Given the description of an element on the screen output the (x, y) to click on. 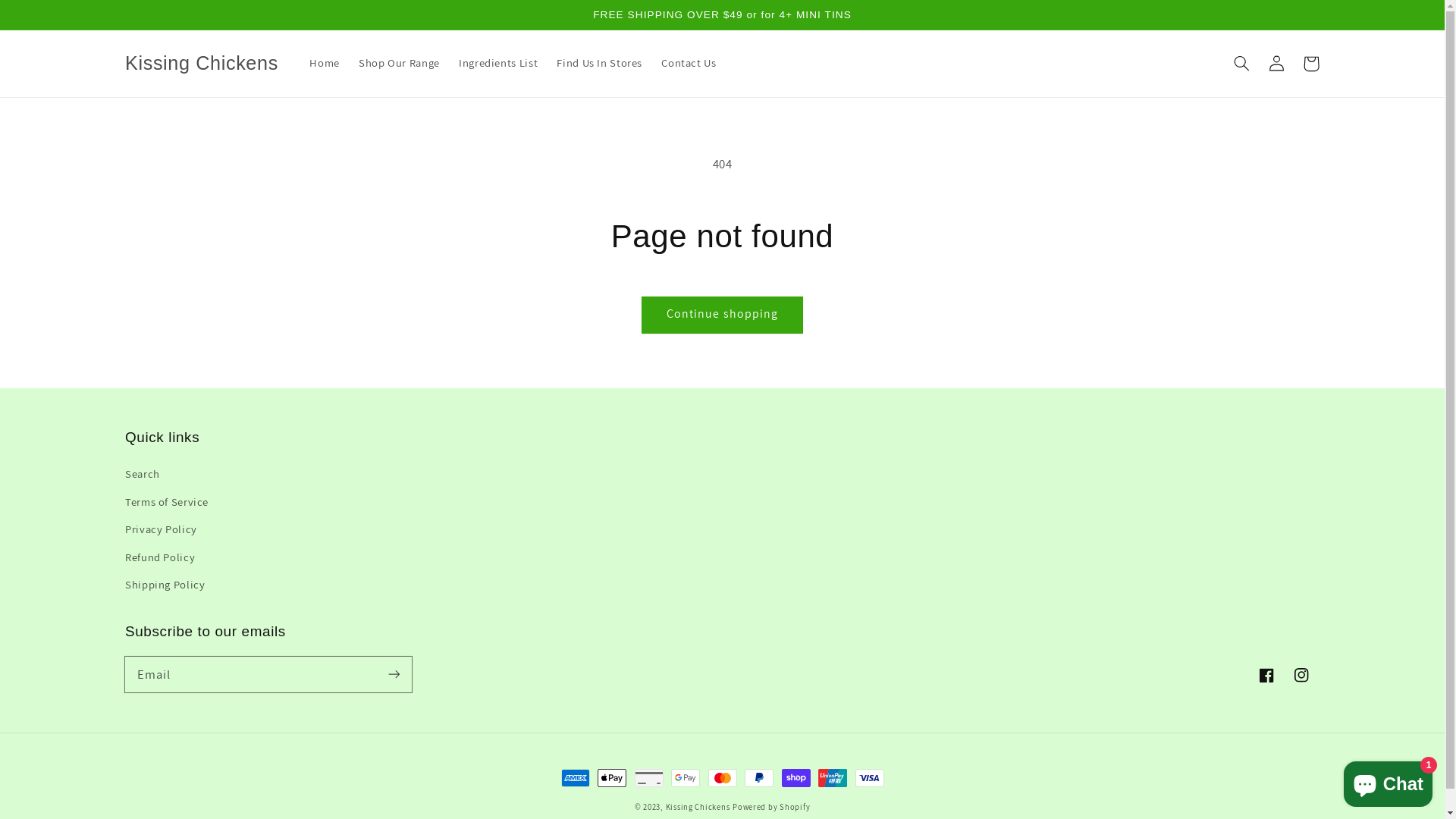
Refund Policy Element type: text (159, 556)
Find Us In Stores Element type: text (599, 63)
Kissing Chickens Element type: text (697, 806)
Log in Element type: text (1275, 63)
Shopify online store chat Element type: hover (1388, 780)
Search Element type: text (142, 475)
Facebook Element type: text (1266, 674)
Powered by Shopify Element type: text (770, 806)
Shop Our Range Element type: text (398, 63)
Instagram Element type: text (1301, 674)
Contact Us Element type: text (689, 63)
Ingredients List Element type: text (497, 63)
Terms of Service Element type: text (166, 501)
Shipping Policy Element type: text (164, 584)
Kissing Chickens Element type: text (201, 62)
Home Element type: text (324, 63)
Privacy Policy Element type: text (161, 528)
Cart Element type: text (1310, 63)
Continue shopping Element type: text (722, 314)
